Given the description of an element on the screen output the (x, y) to click on. 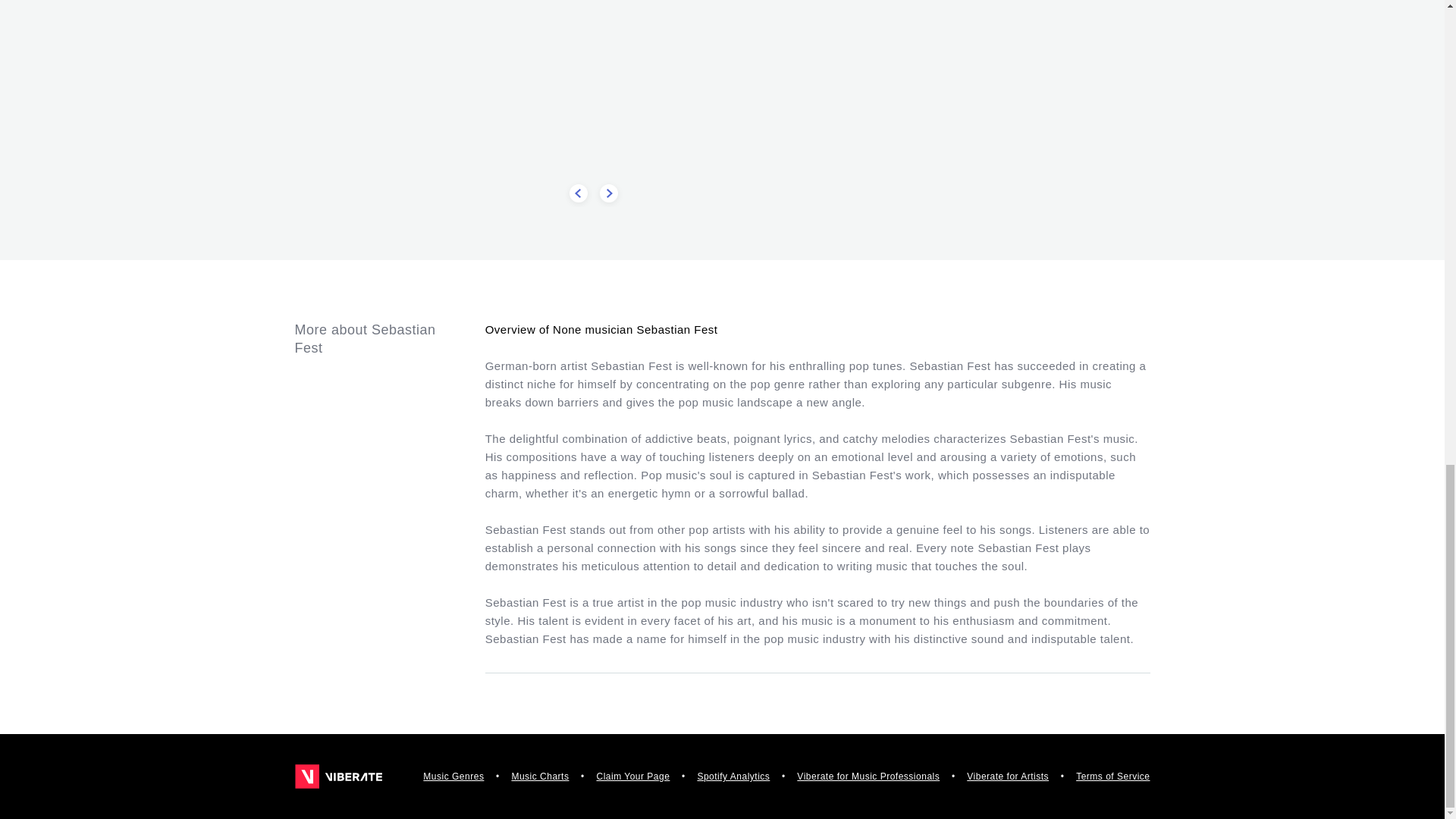
Spotify Analytics (733, 775)
Music Genres (453, 775)
Music Genres (453, 775)
Viberate for Artists (1007, 775)
Viberate for Music Professionals (867, 775)
Terms of Service (1112, 775)
Claim Your Page (632, 775)
Music Charts (540, 775)
